Given the description of an element on the screen output the (x, y) to click on. 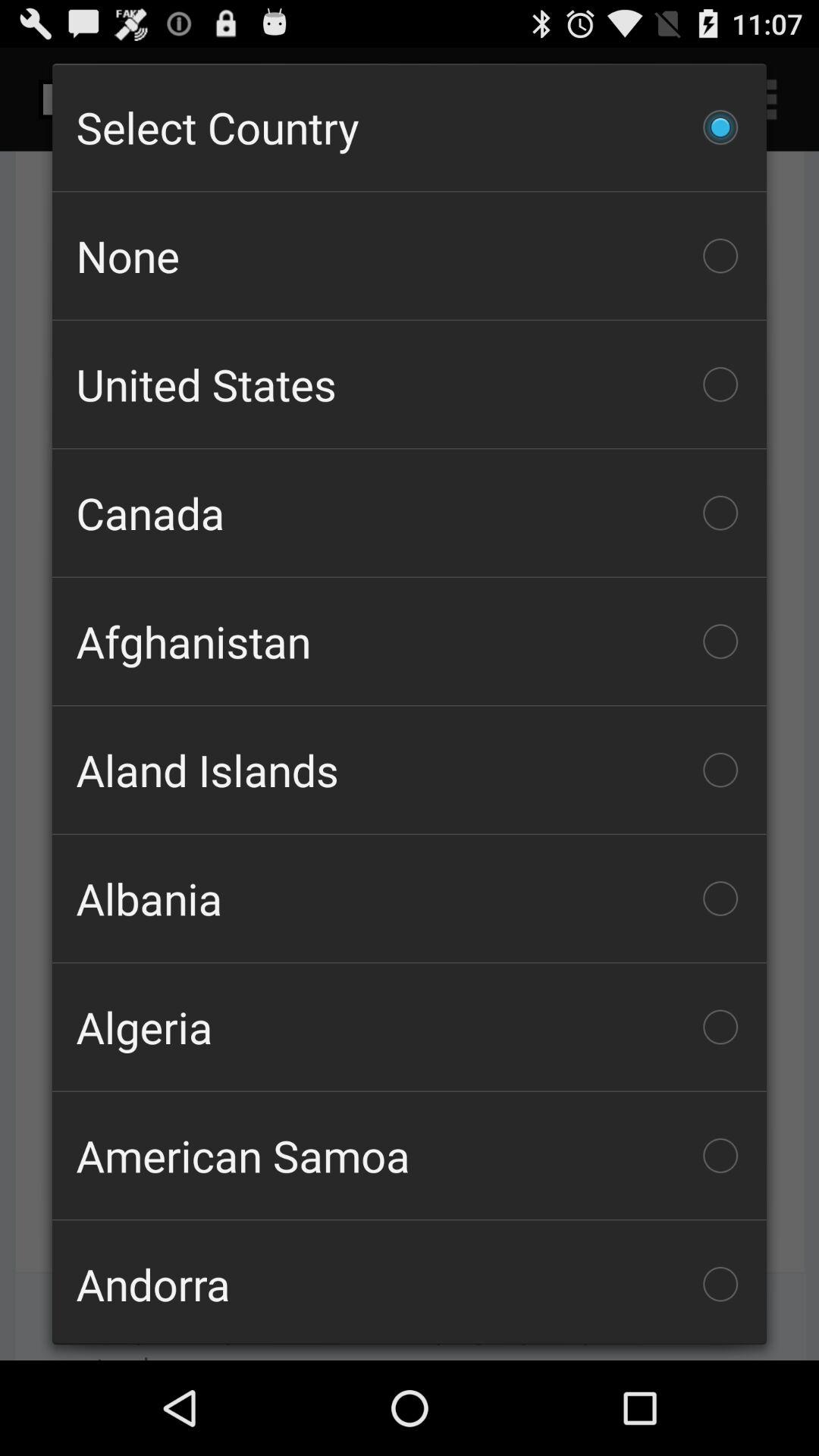
choose the item above the none item (409, 127)
